Given the description of an element on the screen output the (x, y) to click on. 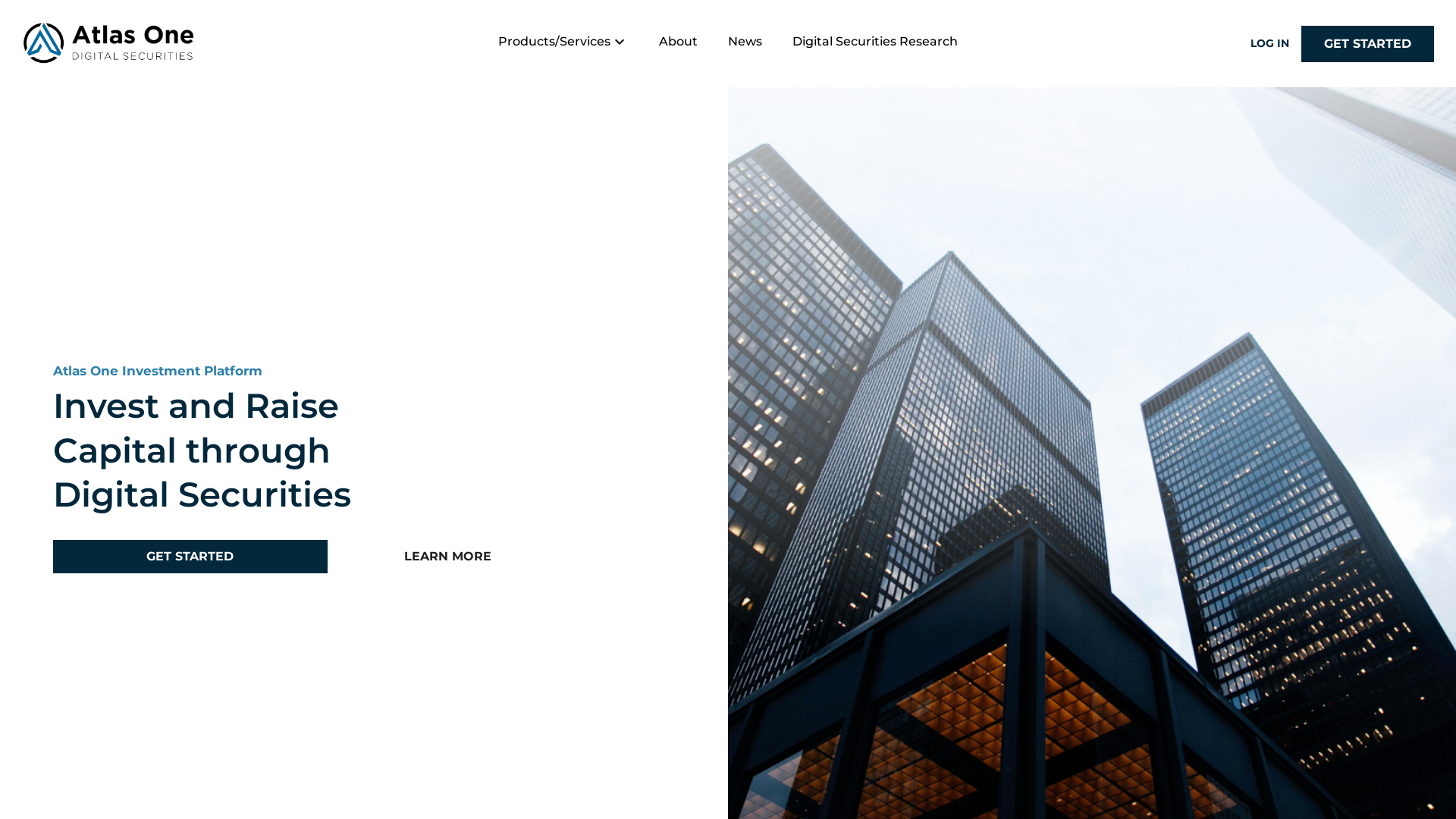
LOG IN Element type: text (1269, 43)
GET STARTED Element type: text (190, 556)
GET STARTED Element type: text (1367, 43)
LEARN MORE Element type: text (447, 556)
